Given the description of an element on the screen output the (x, y) to click on. 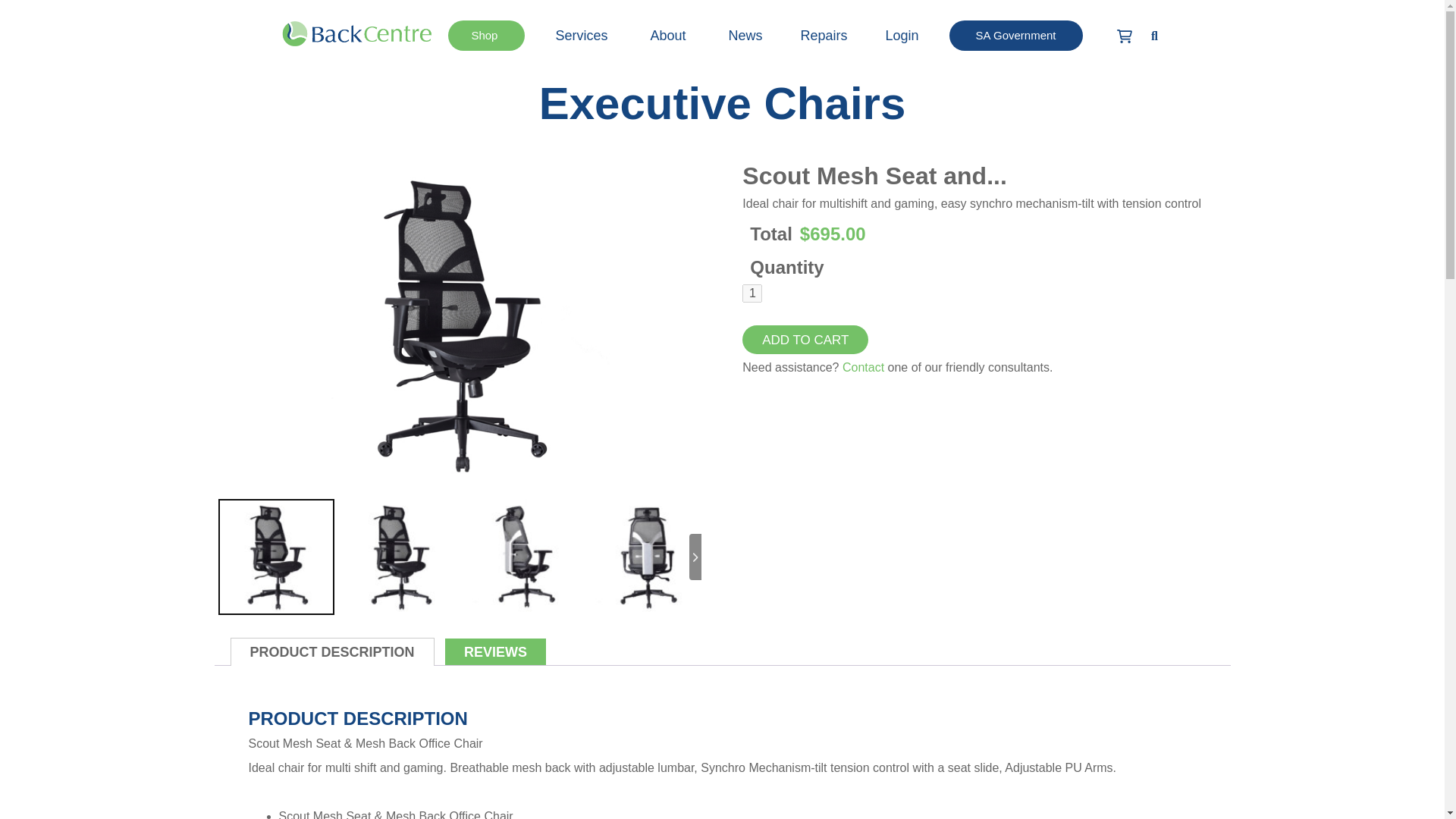
1 (751, 293)
News (745, 35)
SA Government (1016, 35)
Back Centre (356, 33)
Login (901, 35)
Services (583, 35)
Repairs (824, 35)
Shop (486, 35)
About (669, 35)
